Given the description of an element on the screen output the (x, y) to click on. 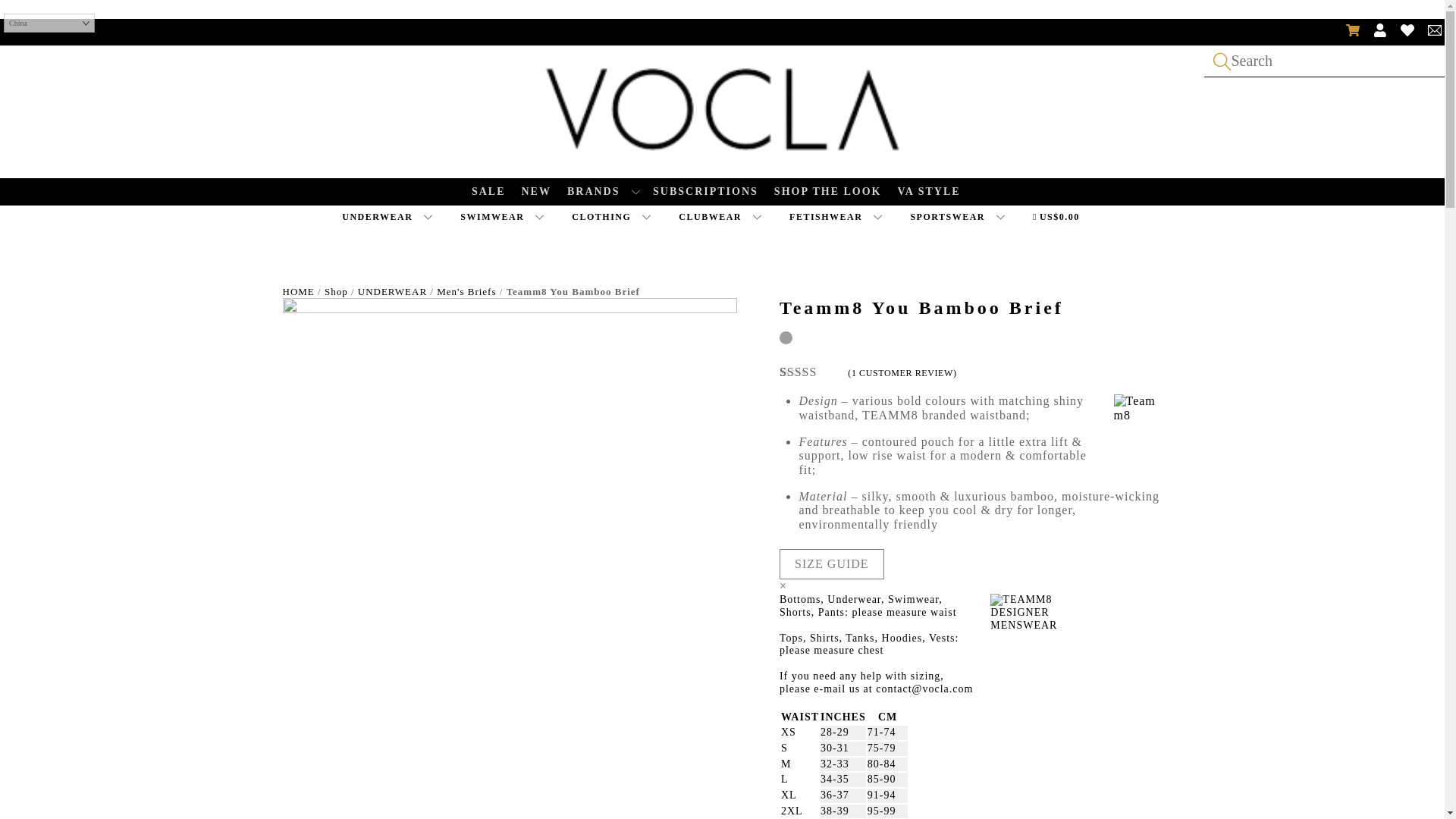
Start shopping (1065, 217)
VOCLA LOGO TRANSPARENT v1 (721, 111)
